Given the description of an element on the screen output the (x, y) to click on. 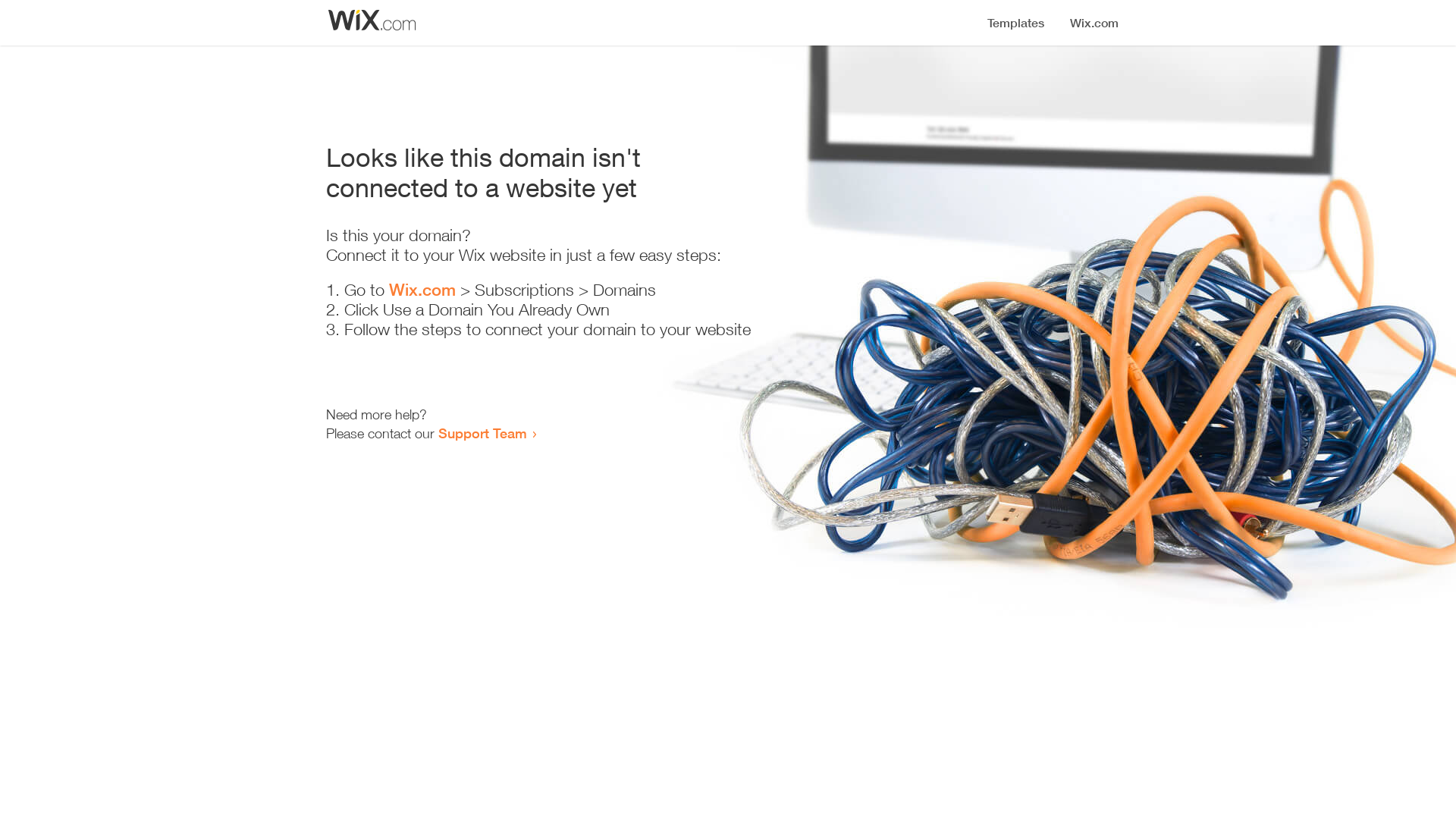
Wix.com Element type: text (422, 289)
Support Team Element type: text (482, 432)
